Given the description of an element on the screen output the (x, y) to click on. 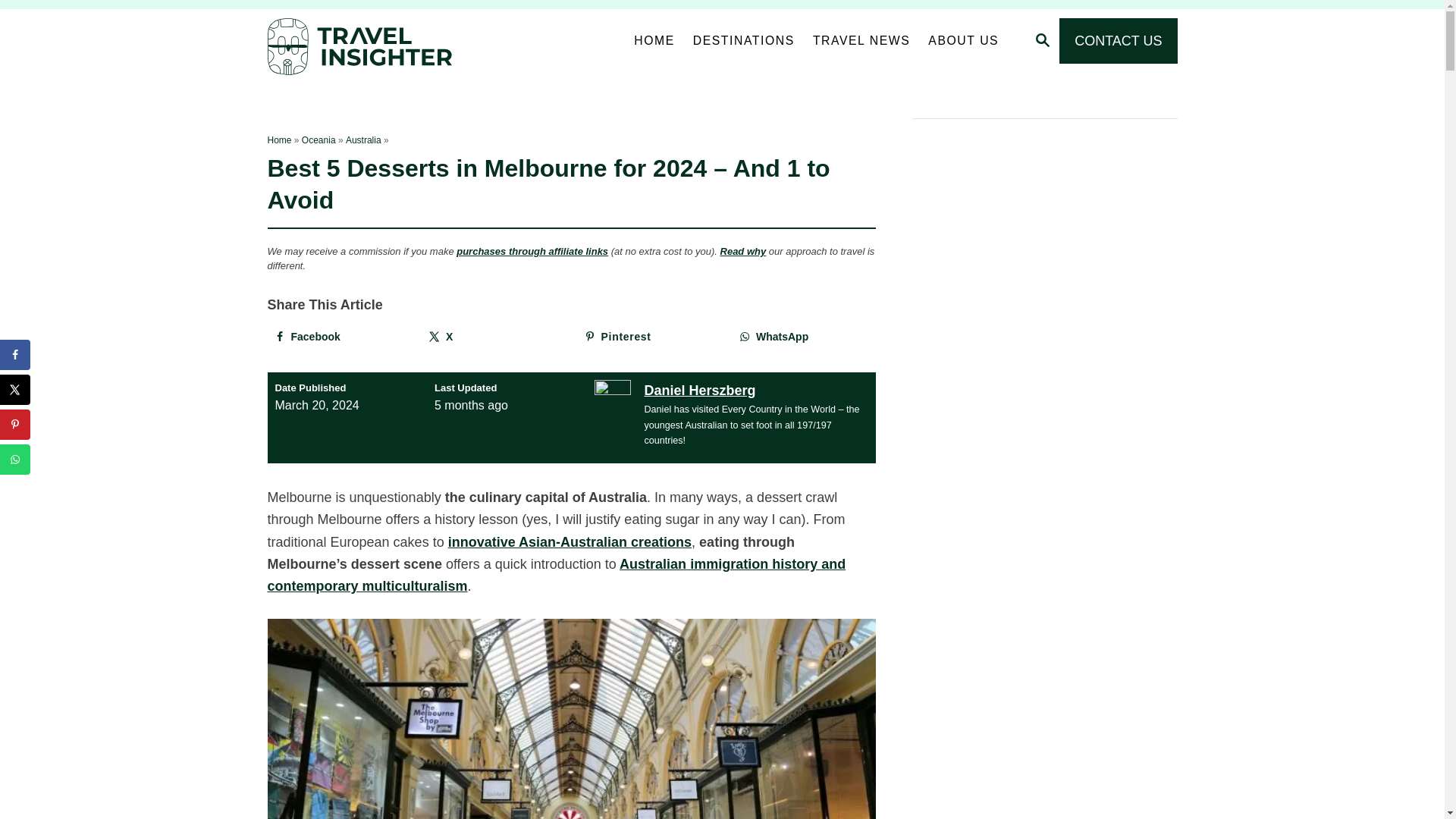
Pinterest (649, 336)
Read why (743, 251)
WhatsApp (803, 336)
TRAVEL NEWS (860, 40)
ABOUT US (962, 40)
MAGNIFYING GLASS (1042, 40)
DESTINATIONS (743, 40)
Oceania (318, 140)
HOME (654, 40)
innovative Asian-Australian creations (569, 541)
Facebook (337, 336)
Save to Pinterest (649, 336)
X (493, 336)
Home (278, 140)
